Given the description of an element on the screen output the (x, y) to click on. 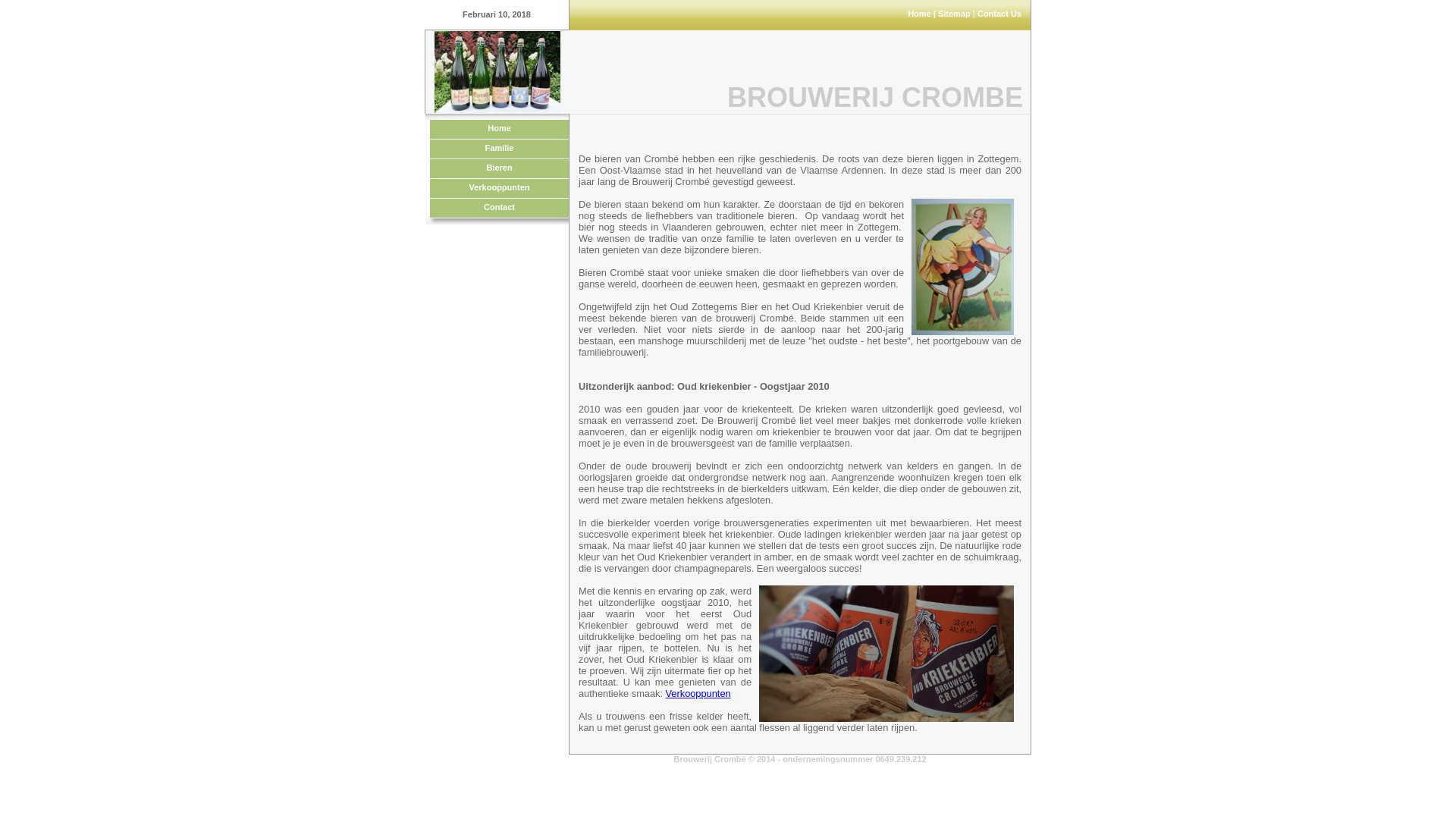
Home Element type: text (498, 129)
Sitemap Element type: text (954, 13)
Verkooppunten Element type: text (498, 188)
Contact Element type: text (498, 208)
Bieren Element type: text (498, 168)
Verkooppunten Element type: text (698, 693)
Home Element type: text (919, 13)
Contact Us Element type: text (999, 13)
Familie Element type: text (498, 149)
